Given the description of an element on the screen output the (x, y) to click on. 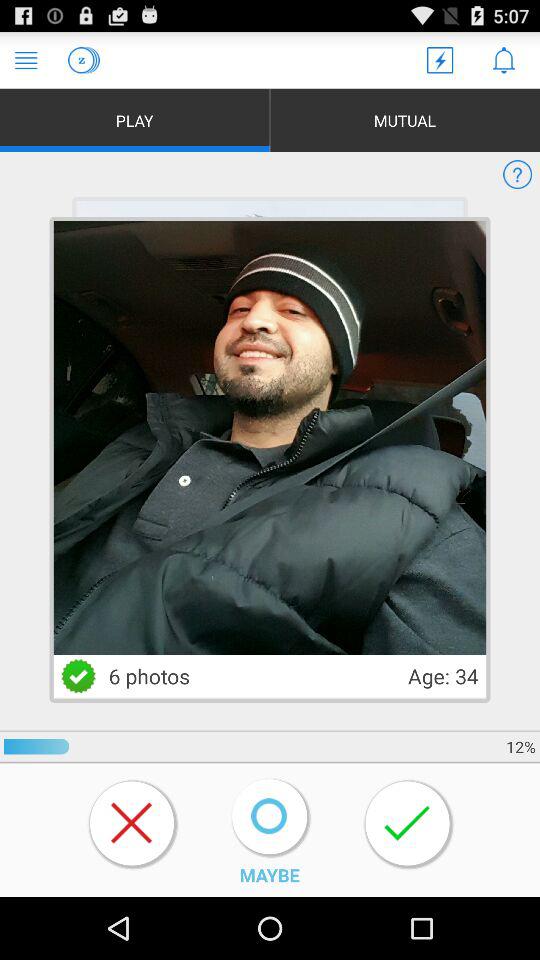
click on help icon (517, 173)
select second option at bottom (271, 818)
click on the icon which is left side of the bell icon (439, 60)
click on the icon which is to the left of right button (269, 816)
